Given the description of an element on the screen output the (x, y) to click on. 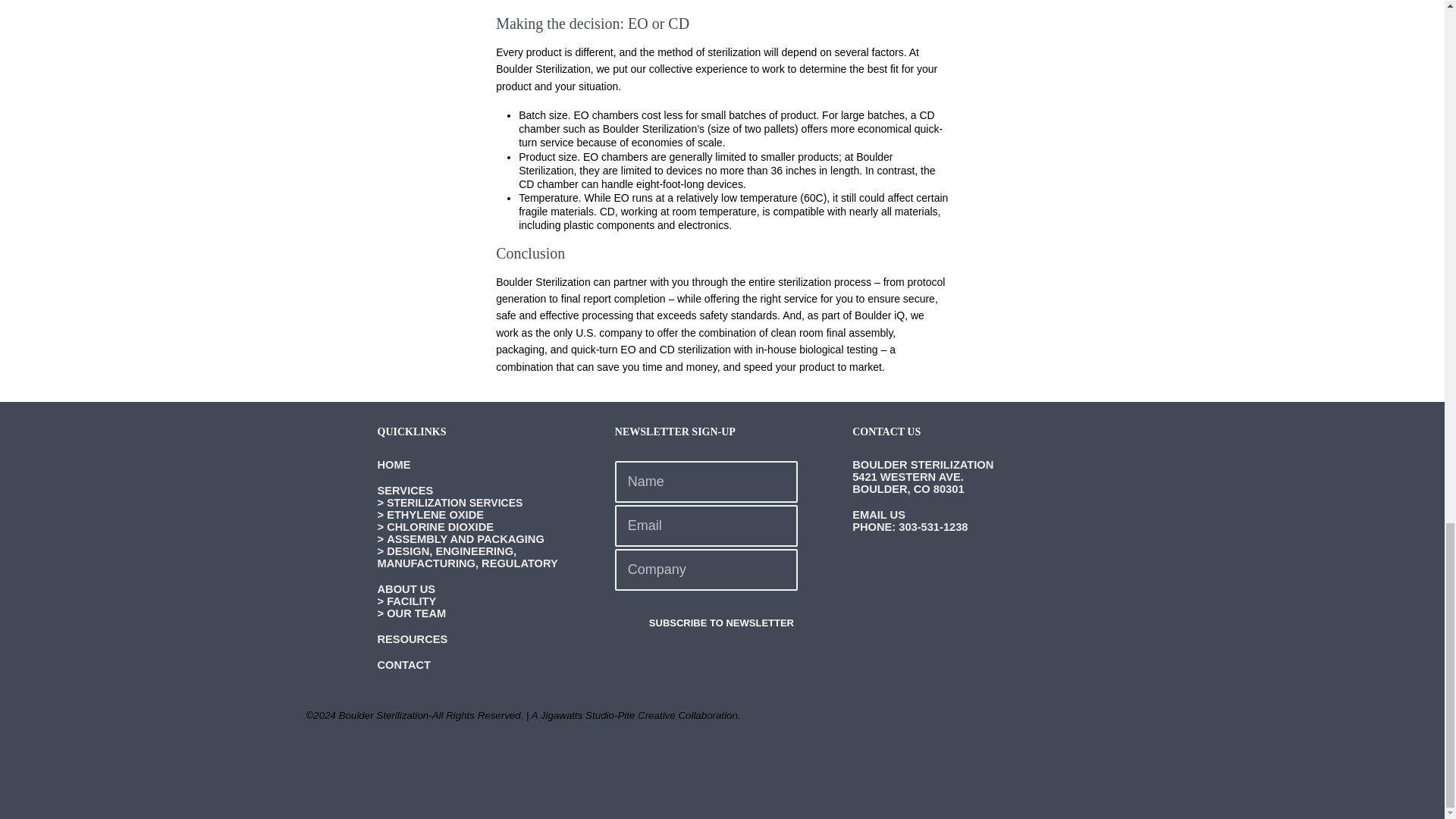
CHLORINE DIOXIDE (440, 526)
ASSEMBLY AND PACKAGING (465, 539)
CONTACT (403, 664)
RESOURCES (412, 639)
ETHYLENE OXIDE (435, 514)
OUR TEAM (416, 613)
HOME (393, 464)
FACILITY (411, 601)
STERILIZATION SERVICES (454, 502)
Subscribe to Newsletter (705, 622)
